Given the description of an element on the screen output the (x, y) to click on. 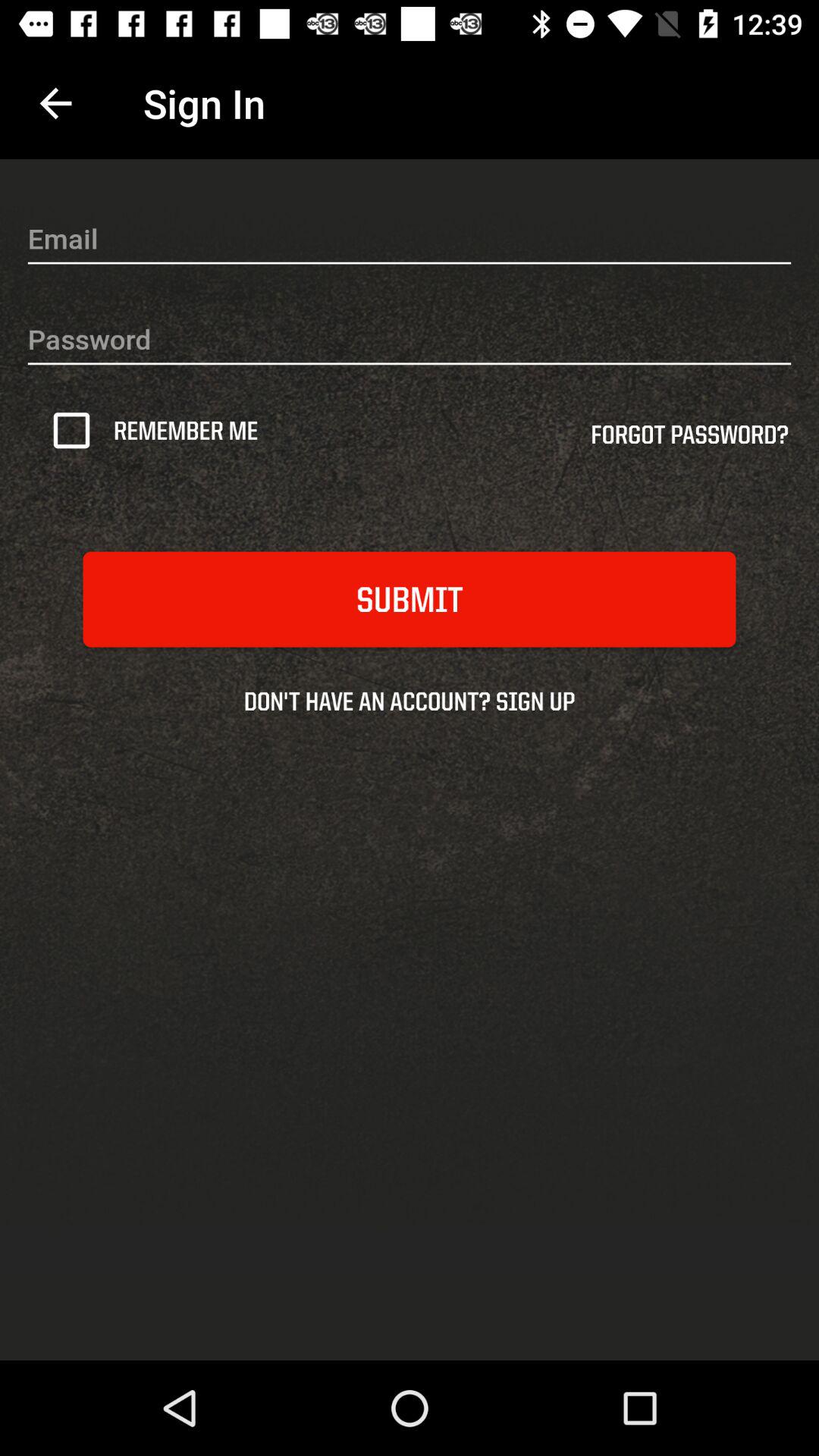
select item to the left of sign in item (55, 103)
